Given the description of an element on the screen output the (x, y) to click on. 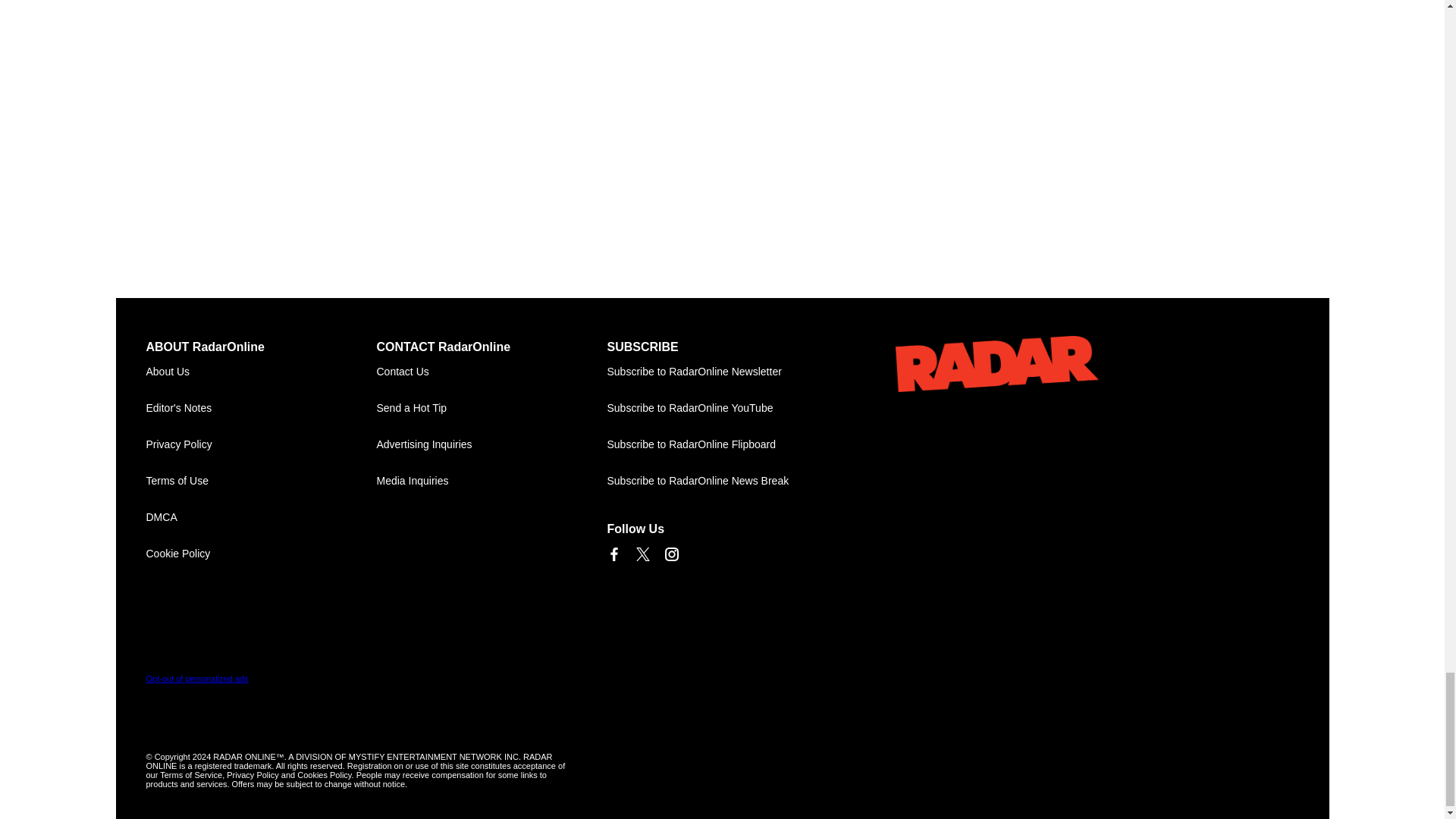
Editor's Notes (260, 408)
Editor's Notes (260, 408)
Link to X (641, 554)
Send a Hot Tip (491, 408)
Link to Facebook (613, 554)
Cookie Policy (260, 554)
Privacy Policy (260, 444)
Link to Instagram (670, 554)
Terms of Use (260, 481)
About Us (260, 371)
